Given the description of an element on the screen output the (x, y) to click on. 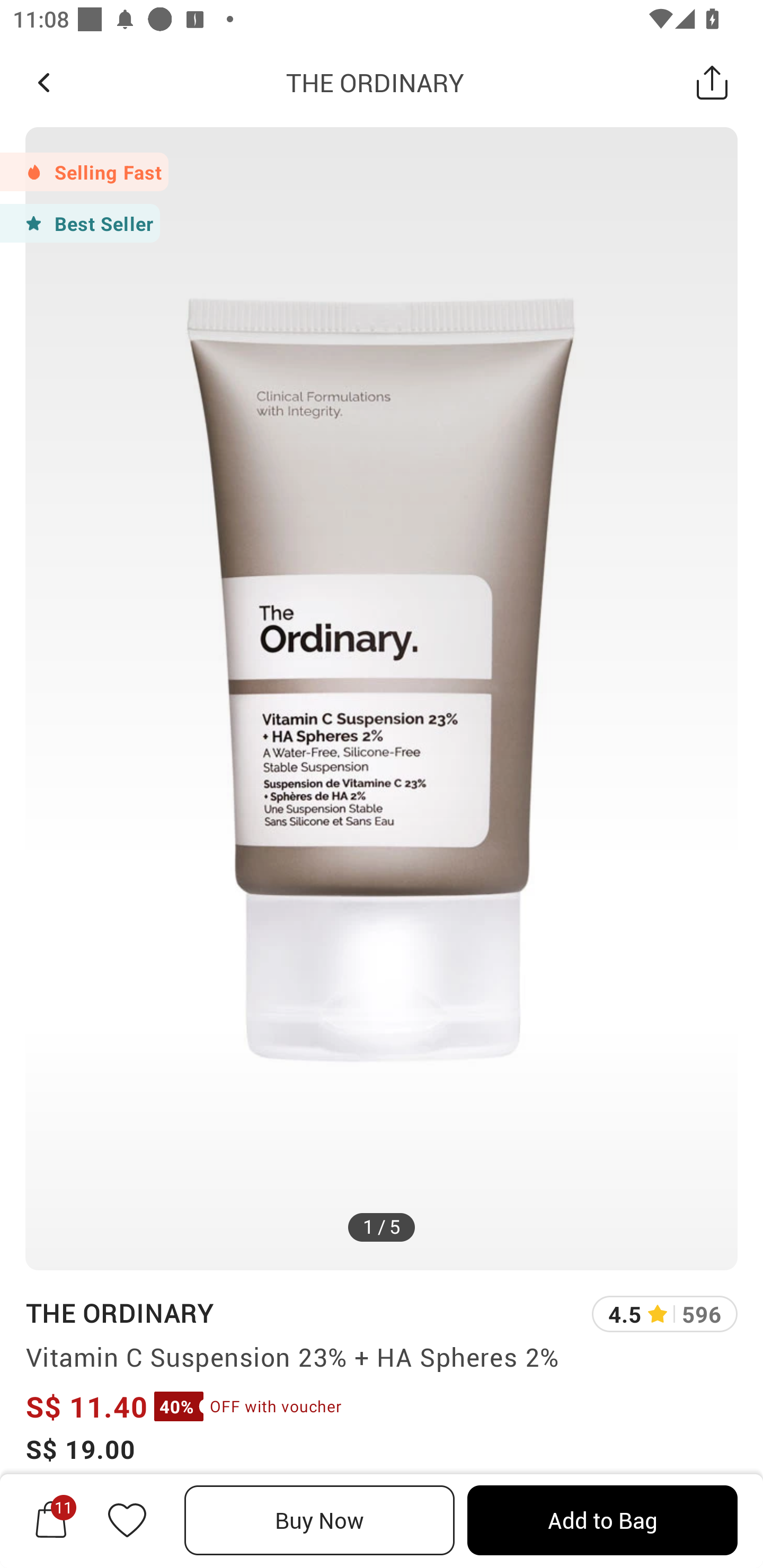
THE ORDINARY (375, 82)
Share this Product (711, 82)
THE ORDINARY (119, 1312)
4.5 596 (664, 1313)
Buy Now (319, 1519)
Add to Bag (601, 1519)
11 (50, 1520)
